Given the description of an element on the screen output the (x, y) to click on. 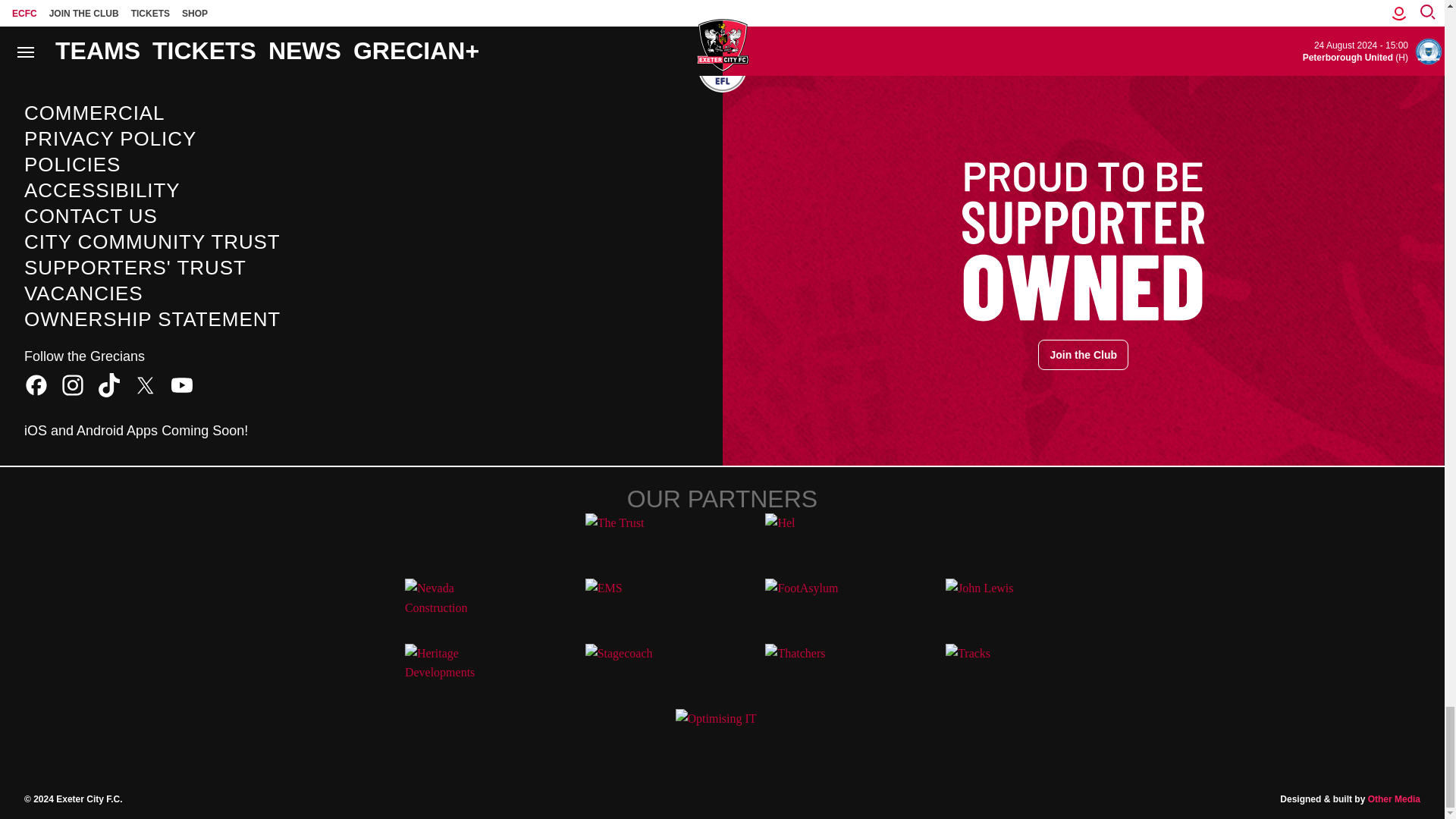
Footasylum (812, 604)
Nevada Construction  (451, 604)
Facebook (36, 384)
EMS (632, 604)
Optimising IT (721, 735)
Stagecoach (632, 669)
The Trust (632, 539)
Instagram (72, 384)
Tracks Suzuki (991, 669)
Thatchers (812, 669)
